Given the description of an element on the screen output the (x, y) to click on. 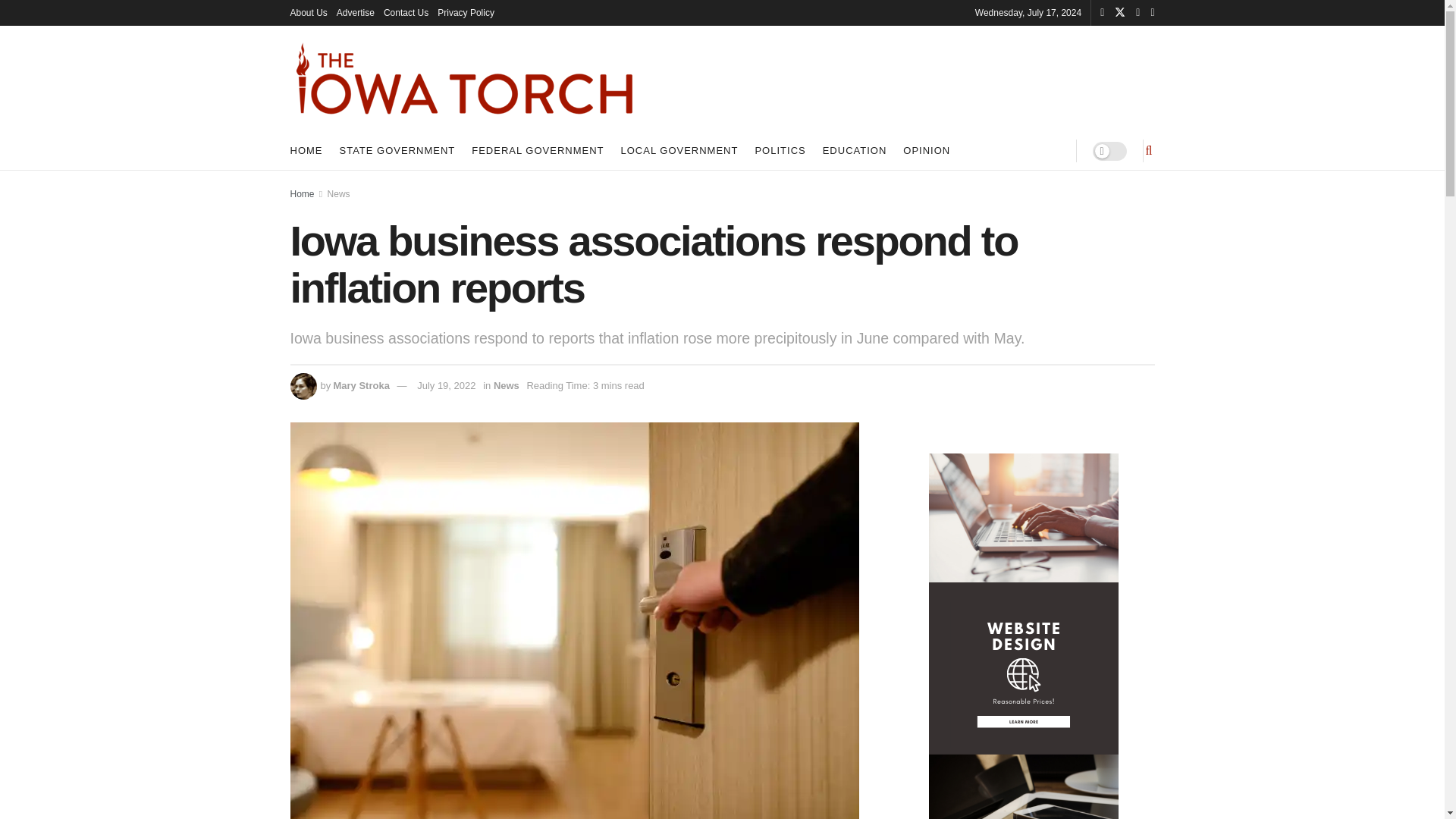
Contact Us (406, 12)
Home (301, 194)
Mary Stroka (360, 385)
Advertise (355, 12)
July 19, 2022 (446, 385)
About Us (307, 12)
HOME (305, 150)
Privacy Policy (466, 12)
LOCAL GOVERNMENT (679, 150)
FEDERAL GOVERNMENT (537, 150)
News (338, 194)
OPINION (926, 150)
News (506, 385)
STATE GOVERNMENT (397, 150)
POLITICS (779, 150)
